Given the description of an element on the screen output the (x, y) to click on. 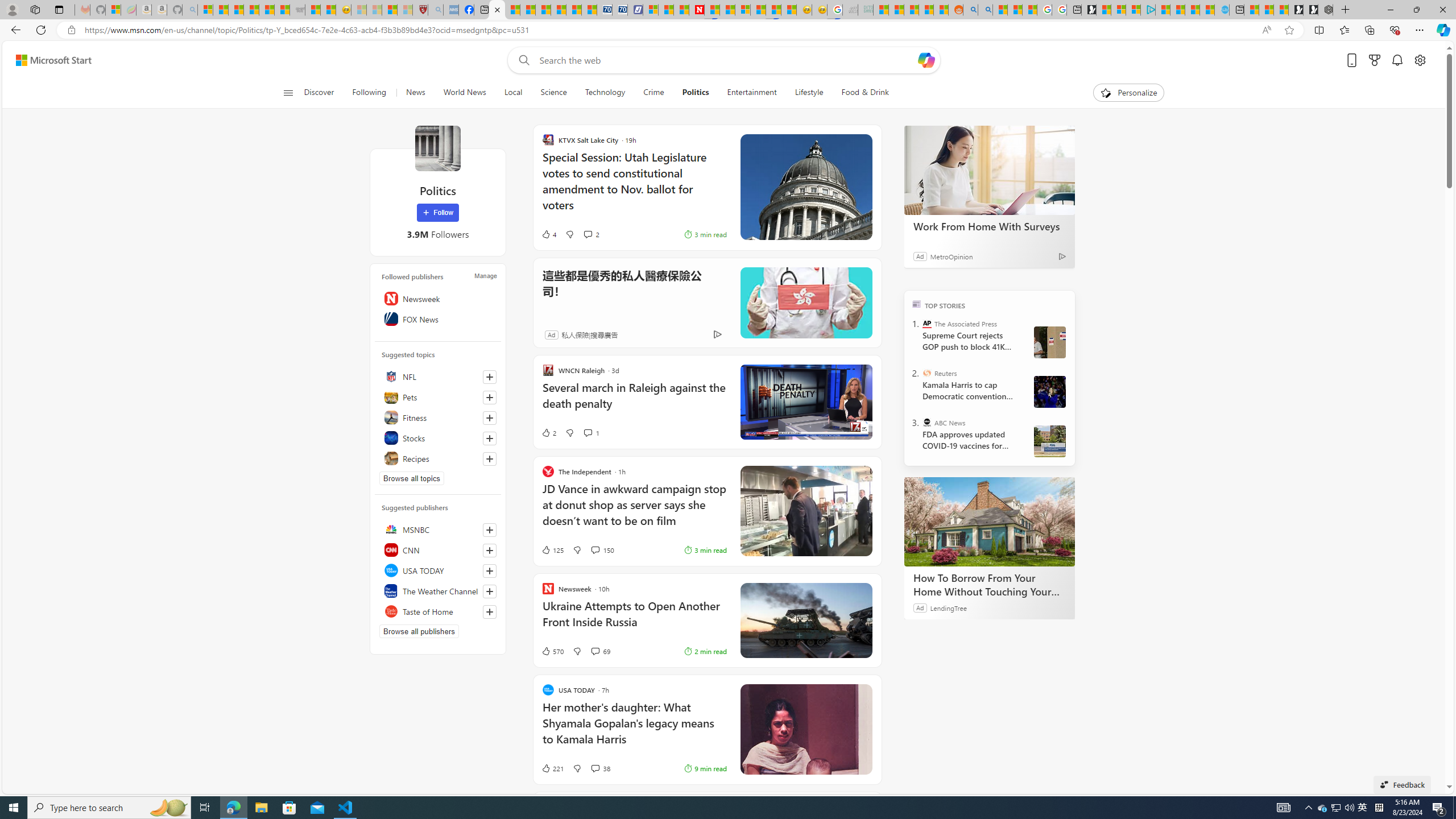
Cheap Hotels - Save70.com (619, 9)
 Harris and Walz campaign in Wisconsin (1049, 391)
